Given the description of an element on the screen output the (x, y) to click on. 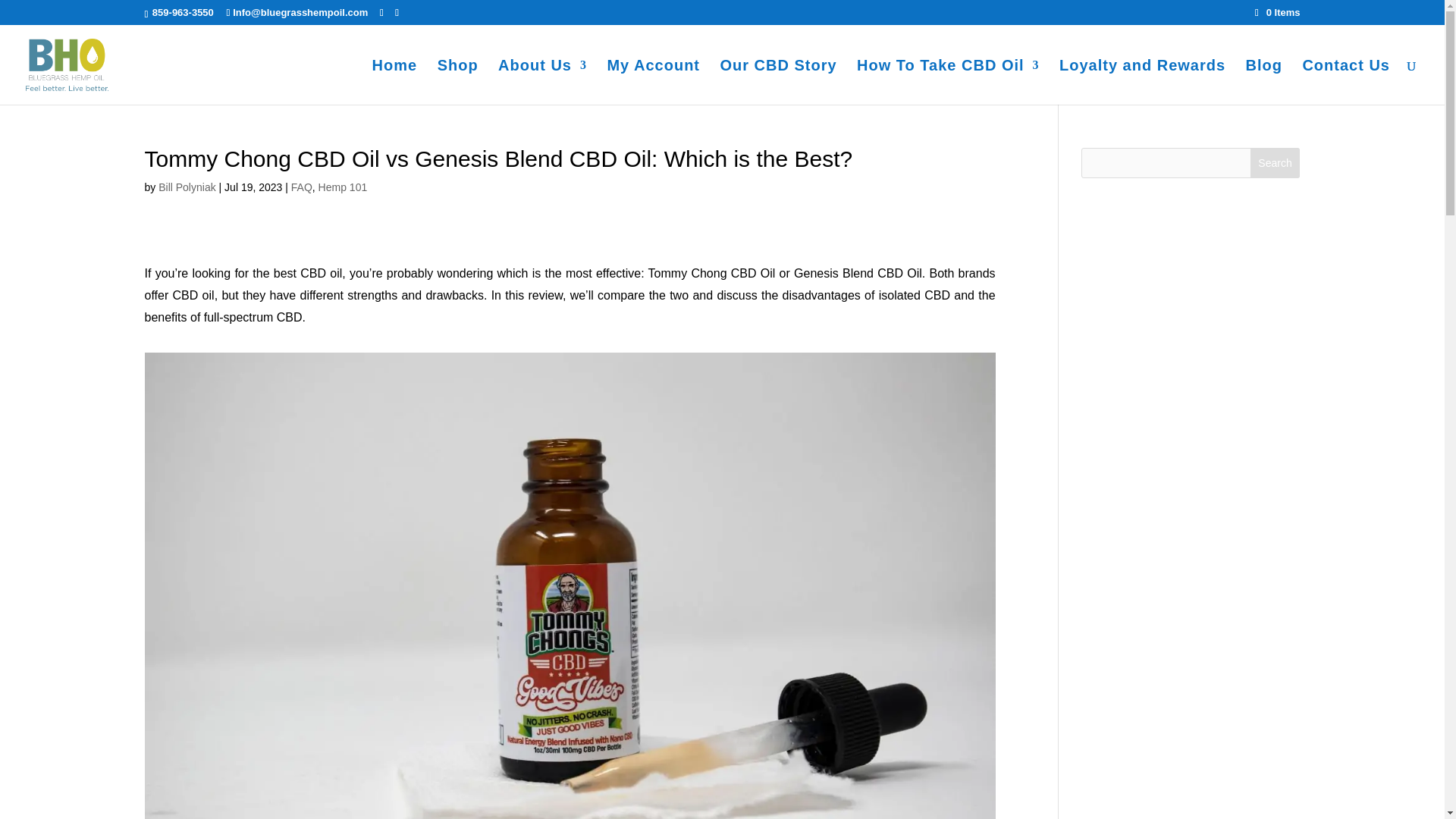
Shop (458, 81)
How To Take CBD Oil (948, 81)
Home (394, 81)
Our CBD Story (777, 81)
My Account (653, 81)
Loyalty and Rewards (1142, 81)
0 Items (1277, 12)
Contact Us (1345, 81)
Posts by Bill Polyniak (186, 186)
About Us (541, 81)
